Given the description of an element on the screen output the (x, y) to click on. 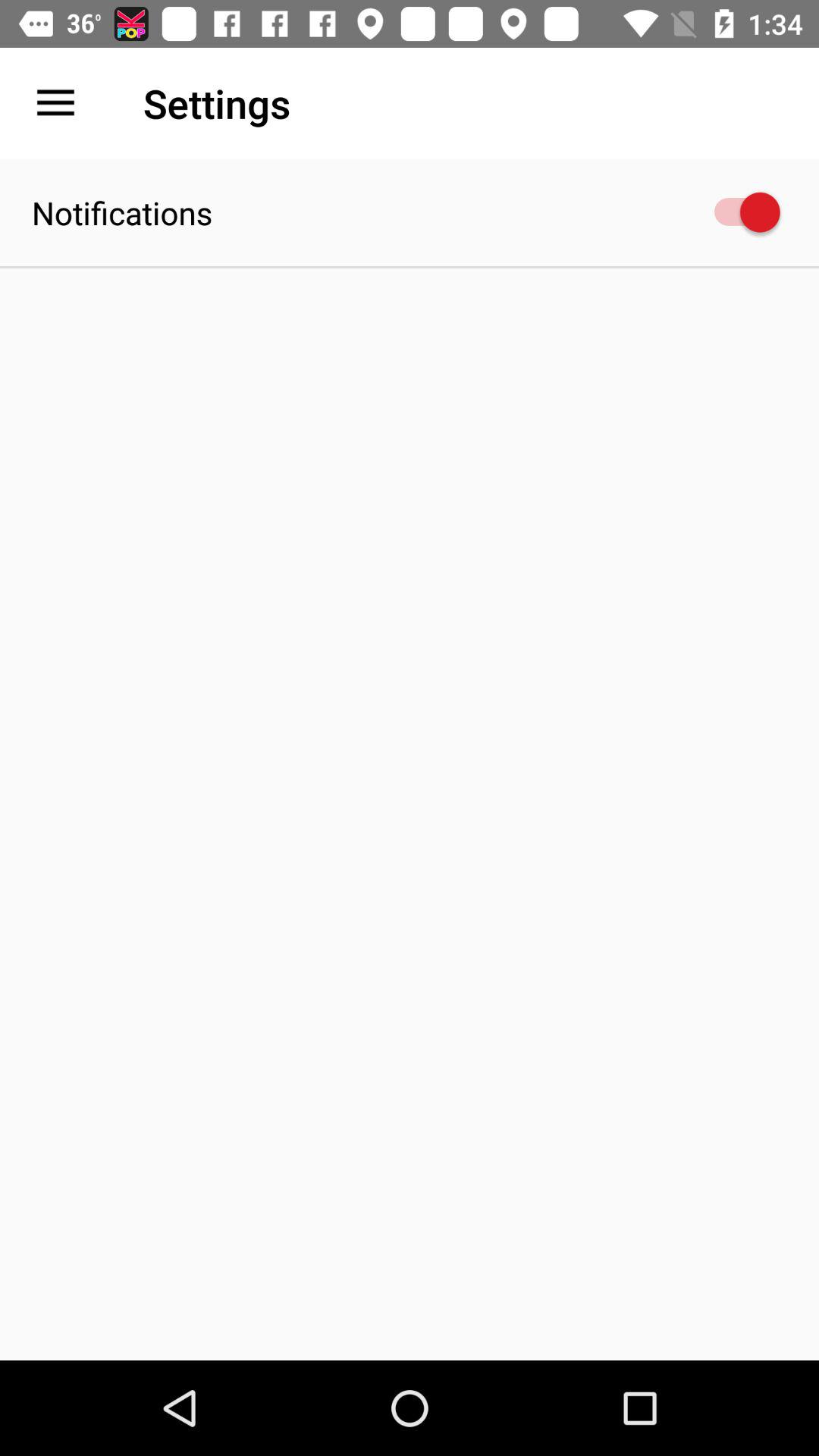
click item next to settings (55, 103)
